Given the description of an element on the screen output the (x, y) to click on. 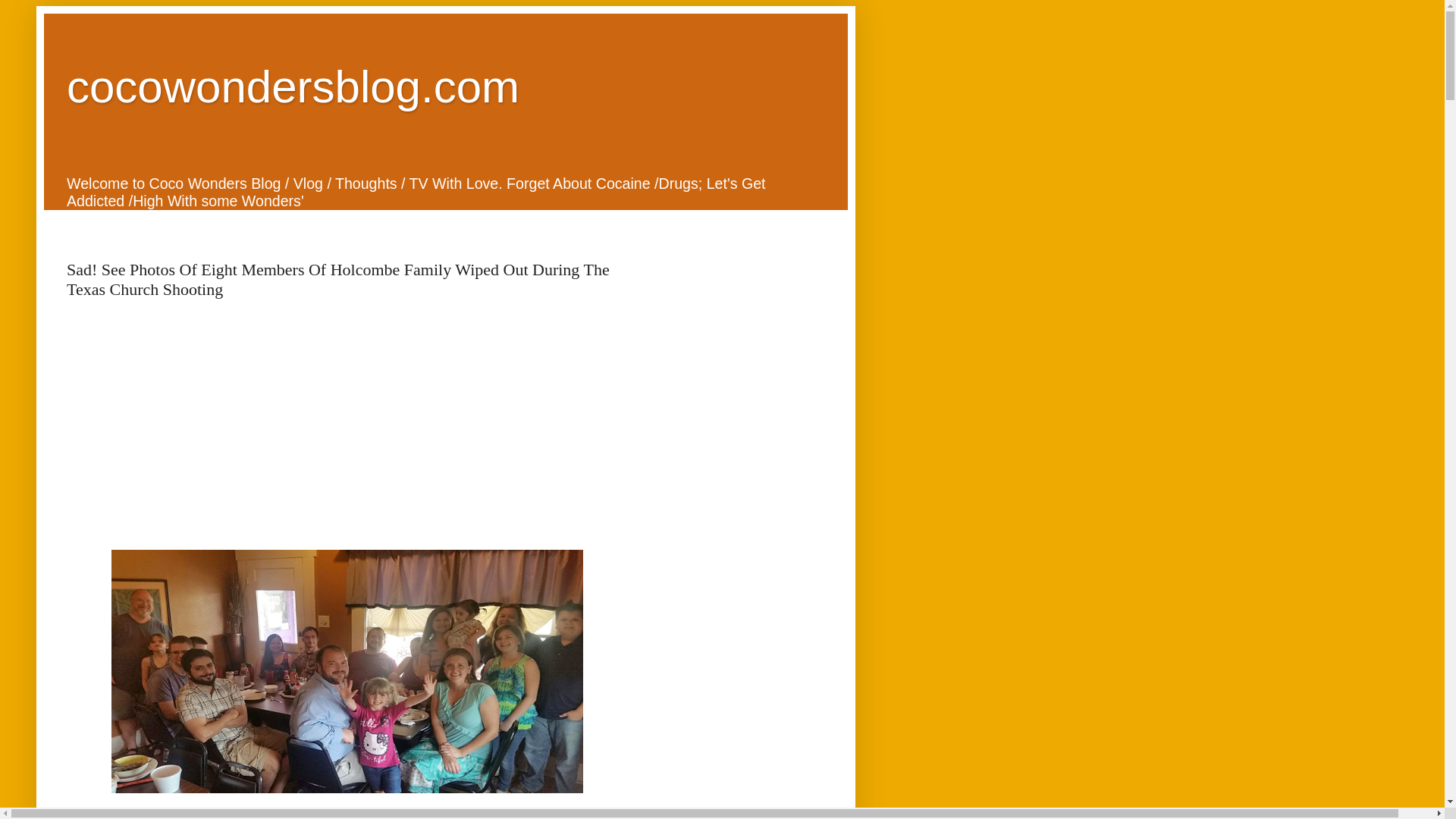
cocowondersblog.com (292, 86)
Advertisement (346, 419)
